Given the description of an element on the screen output the (x, y) to click on. 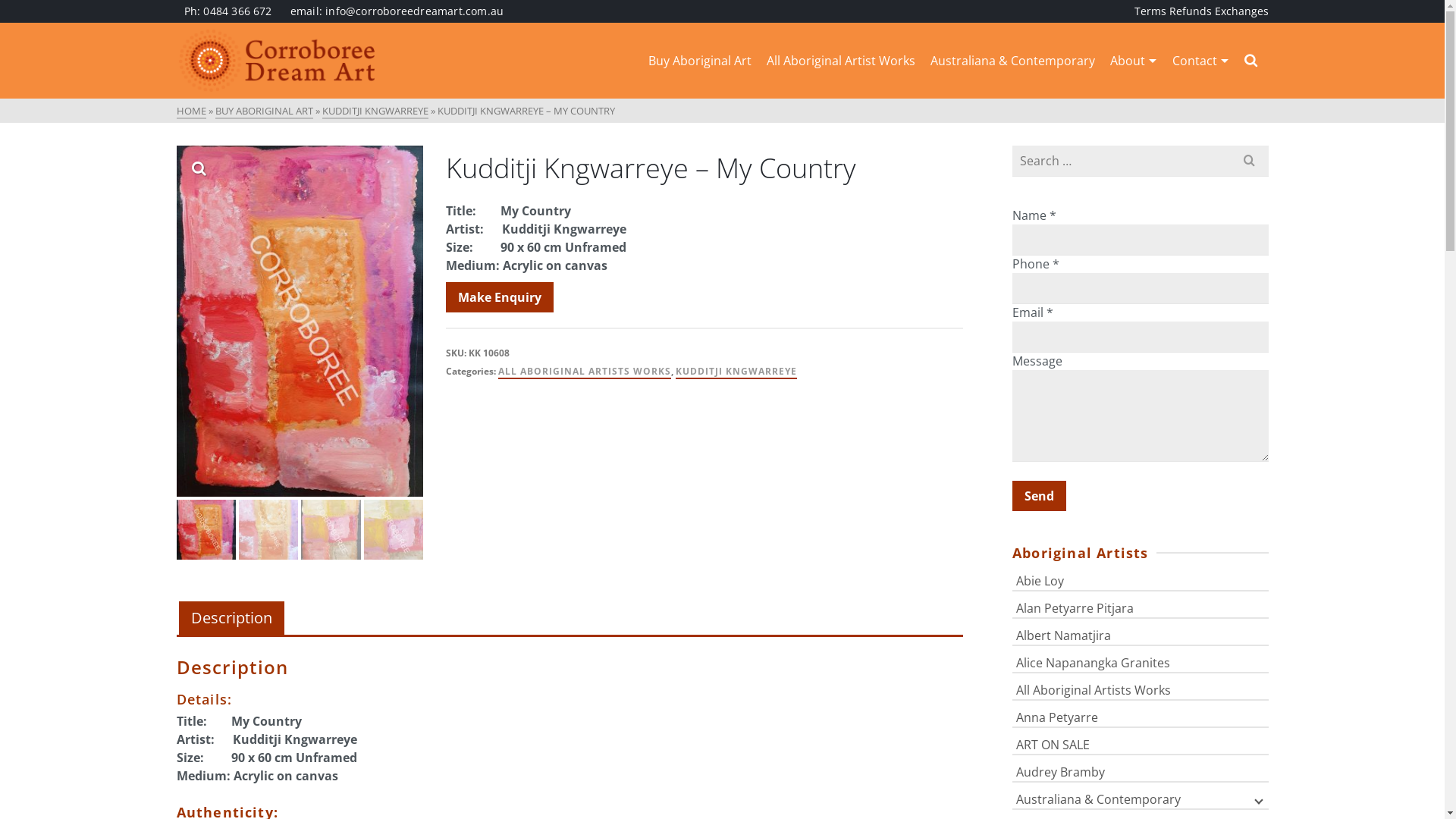
Make Enquiry Element type: text (499, 297)
Australiana & Contemporary Element type: text (1011, 60)
ART ON SALE Element type: text (1140, 743)
All Aboriginal Artist Works Element type: text (840, 60)
Send Element type: text (1039, 495)
Alice Napanangka Granites Element type: text (1140, 661)
All Aboriginal Artists Works Element type: text (1140, 688)
Albert Namatjira Element type: text (1140, 634)
KUDDITJI KNGWARREYE Element type: text (374, 111)
Anna Petyarre Element type: text (1140, 716)
Alan Petyarre Pitjara Element type: text (1140, 606)
About Element type: text (1133, 60)
KUDDITJI KNGWARREYE Element type: text (736, 371)
BUY ABORIGINAL ART Element type: text (264, 111)
Description Element type: text (231, 619)
Abie Loy Element type: text (1140, 579)
Buy Aboriginal Art Element type: text (699, 60)
Audrey Bramby Element type: text (1140, 770)
Ph: 0484 366 672 Element type: text (227, 10)
Australiana & Contemporary Element type: text (1140, 797)
ALL ABORIGINAL ARTISTS WORKS Element type: text (584, 371)
email: info@corroboreedreamart.com.au Element type: text (396, 10)
HOME Element type: text (190, 111)
Terms Refunds Exchanges Element type: text (1201, 10)
Contact Element type: text (1200, 60)
